Given the description of an element on the screen output the (x, y) to click on. 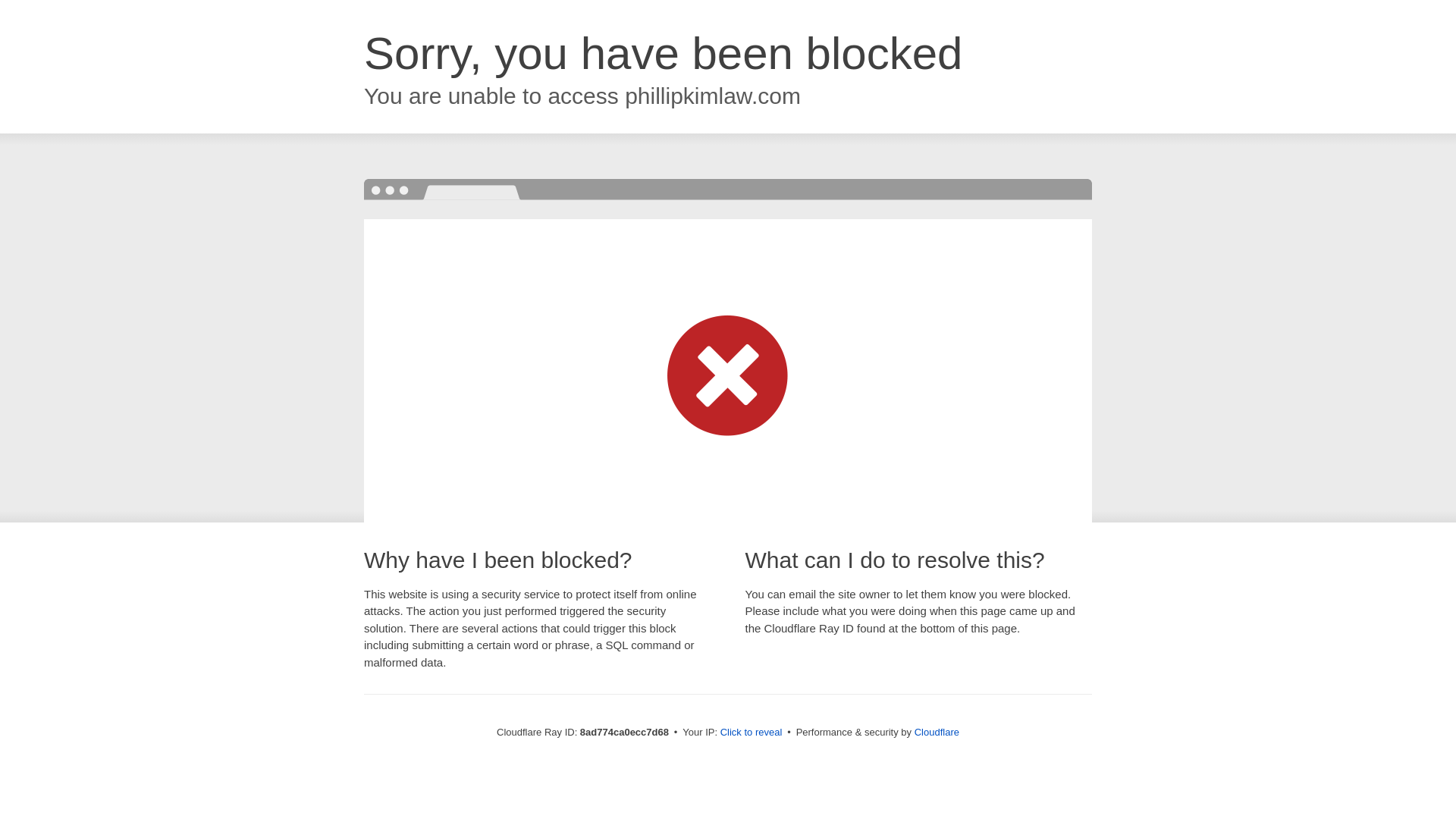
Click to reveal (751, 732)
Cloudflare (936, 731)
